Given the description of an element on the screen output the (x, y) to click on. 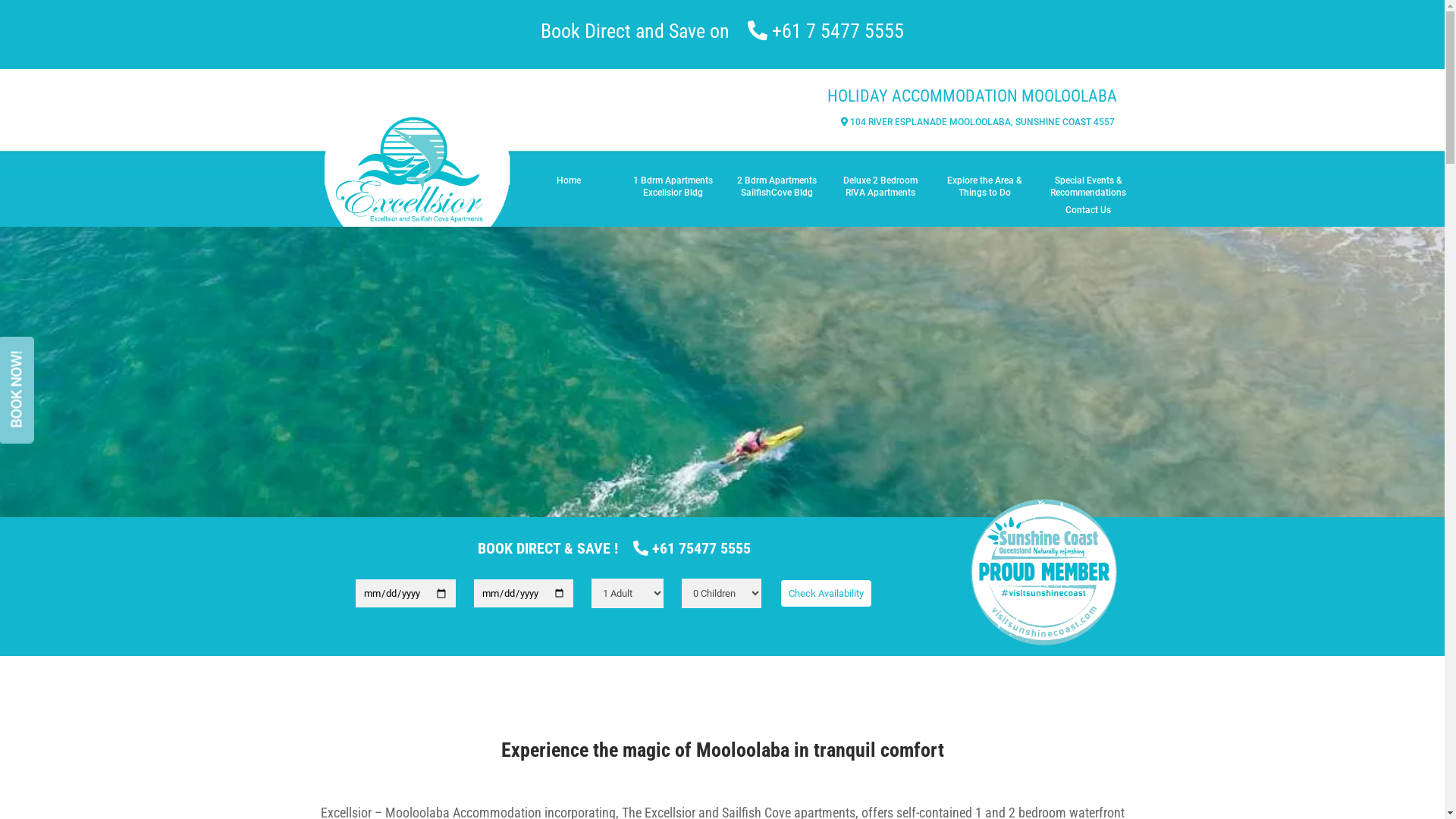
      104 RIVER ESPLANADE MOOLOOLABA, SUNSHINE COAST 4557  Element type: text (973, 121)
Explore the Area & Things to Do Element type: text (983, 186)
Special Events & Recommendations Element type: text (1088, 186)
Deluxe 2 Bedroom RIVA Apartments Element type: text (880, 186)
2 Bdrm Apartments SailfishCove Bldg Element type: text (775, 186)
Contact Us Element type: text (1088, 210)
SSC Element type: hover (1045, 572)
Check Availability Element type: text (825, 593)
1 Bdrm Apartments Excellsior Bldg Element type: text (672, 186)
Home Element type: text (567, 186)
+61 7 5477 5555 Element type: text (837, 30)
Header-Logo-Circle-croped Element type: hover (416, 147)
